Given the description of an element on the screen output the (x, y) to click on. 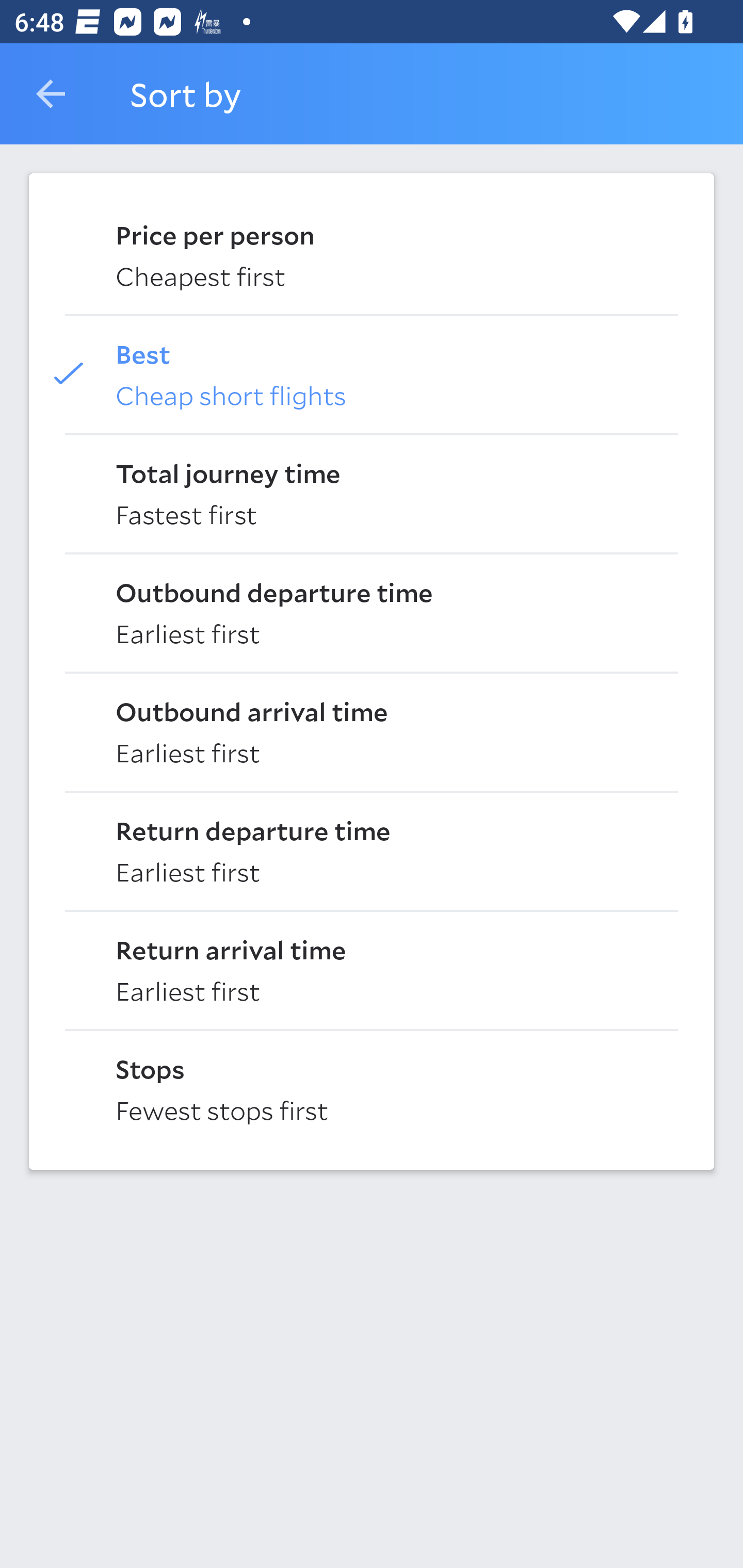
Navigate up (50, 93)
Price per person Cheapest first (371, 253)
Best Cheap short flights (371, 372)
Total journey time Fastest first (371, 491)
Outbound departure time Earliest first (371, 611)
Outbound arrival time Earliest first (371, 730)
Return departure time Earliest first (371, 849)
Return arrival time Earliest first (371, 968)
Stops Fewest stops first (371, 1087)
